Given the description of an element on the screen output the (x, y) to click on. 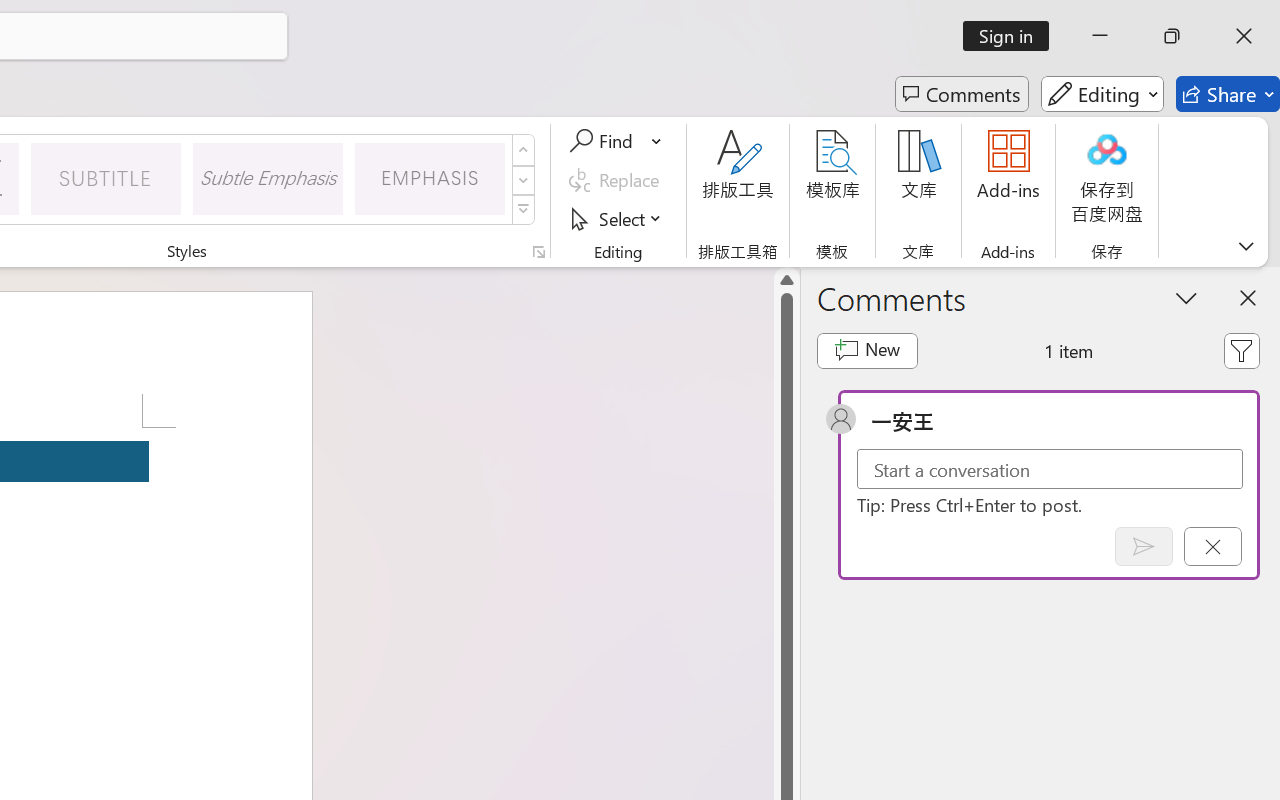
Emphasis (429, 178)
Sign in (1012, 35)
Editing (1101, 94)
New comment (866, 350)
Post comment (Ctrl + Enter) (1143, 546)
